Given the description of an element on the screen output the (x, y) to click on. 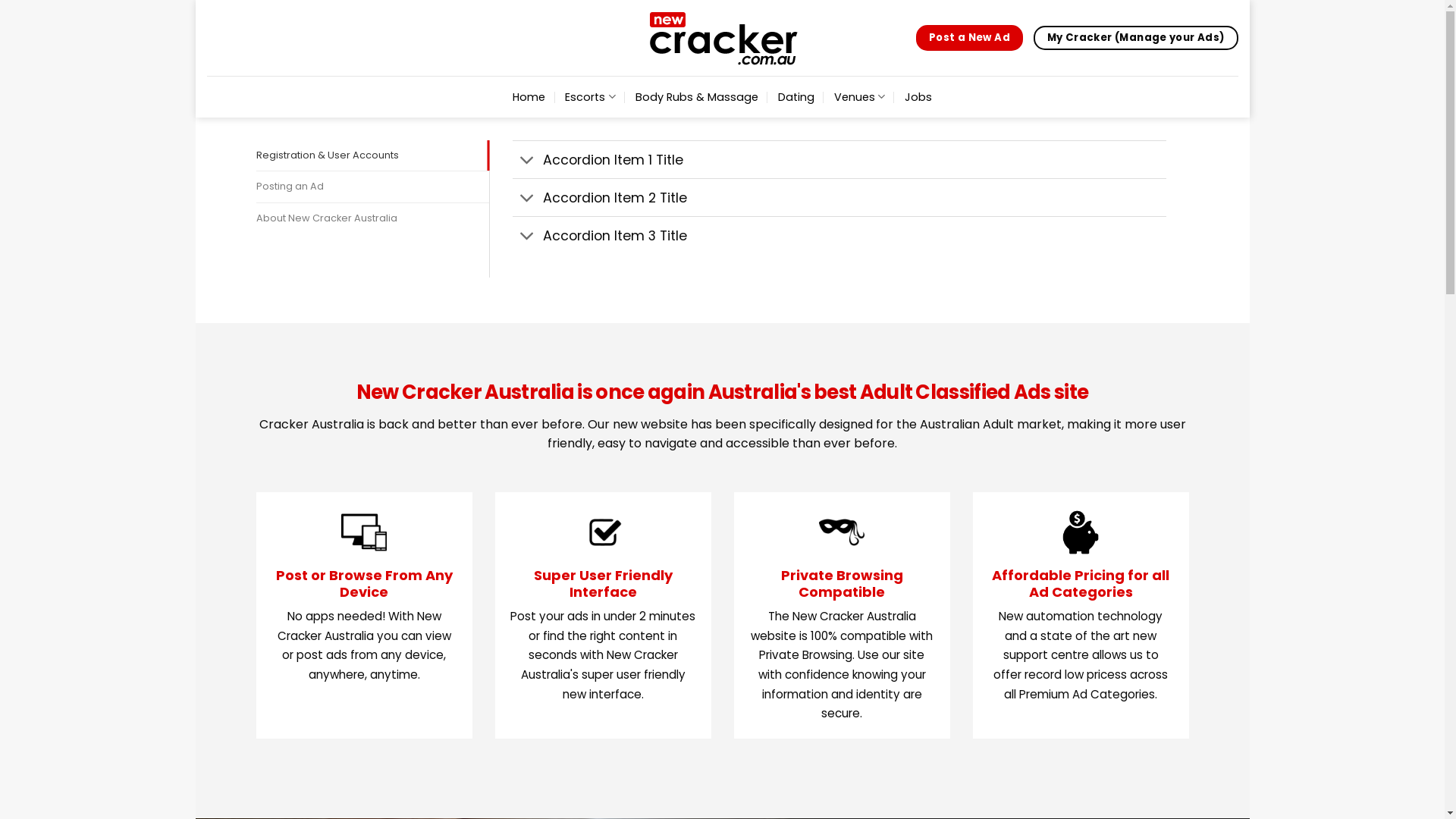
Body Rubs & Massage Element type: text (696, 96)
Registration & User Accounts Element type: text (372, 155)
Escorts Element type: text (589, 96)
Post a New Ad Element type: text (969, 37)
Accordion Item 2 Title Element type: text (839, 197)
Jobs Element type: text (917, 96)
Accordion Item 1 Title Element type: text (839, 159)
My Cracker (Manage your Ads) Element type: text (1135, 37)
Home Element type: text (528, 96)
Venues Element type: text (859, 96)
Posting an Ad Element type: text (372, 186)
Accordion Item 3 Title Element type: text (839, 235)
Dating Element type: text (796, 96)
About New Cracker Australia Element type: text (372, 218)
